Given the description of an element on the screen output the (x, y) to click on. 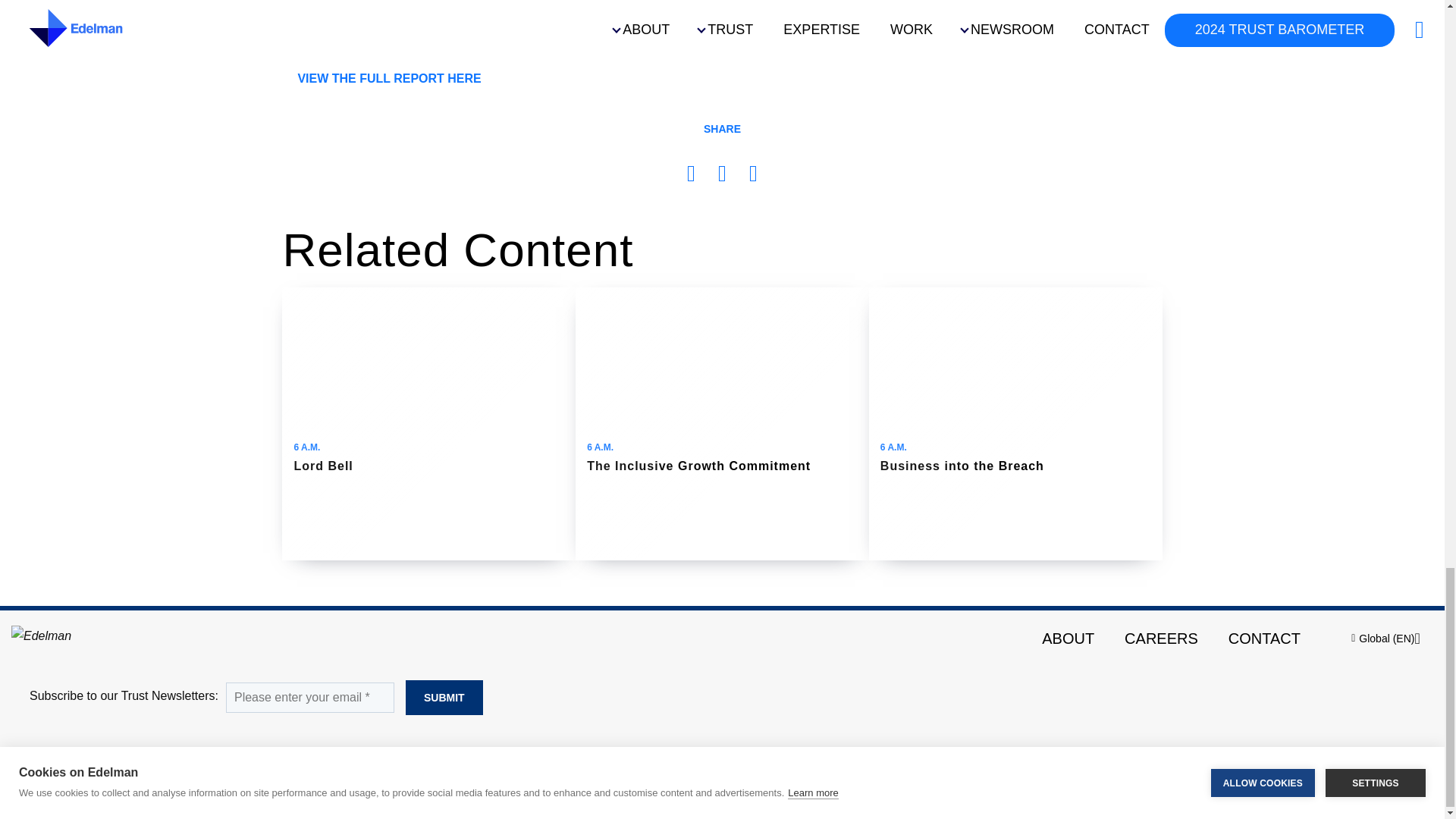
The Inclusive Growth Commitment (722, 423)
Share on Twitter (753, 175)
Follow Edelman on Instagram (1409, 762)
Share on Facebook (691, 175)
Share on LinkedIn (721, 175)
SUBMIT (444, 697)
Follow Edelman on LinkedIn (1364, 762)
Lord Bell (428, 423)
Follow Edelman on Facebook (1274, 762)
Follow Edelman on Twitter (1319, 762)
Business into the Breach (1015, 423)
